Given the description of an element on the screen output the (x, y) to click on. 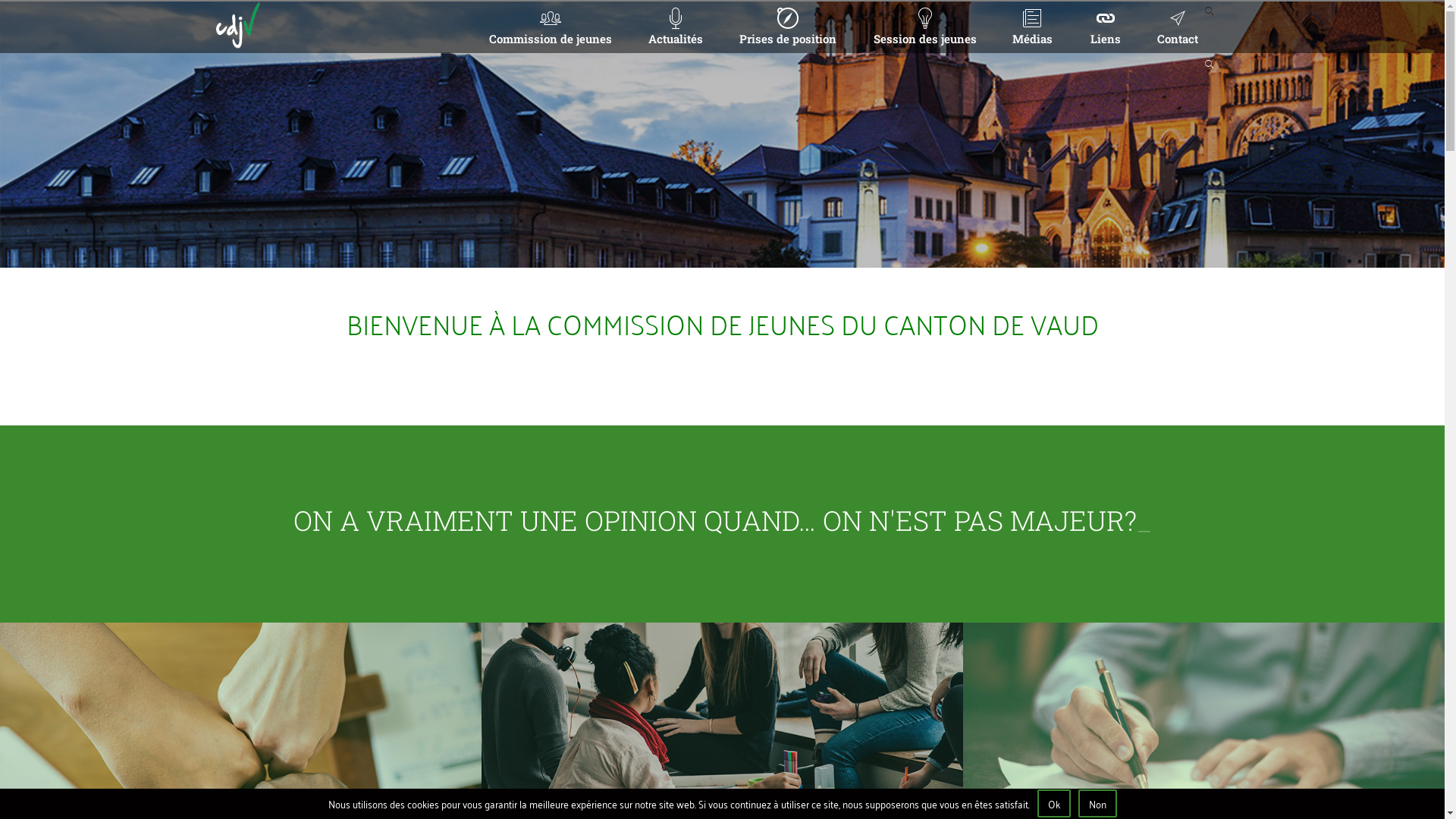
Contact Element type: text (1176, 26)
konsept Element type: text (1139, 768)
Non Element type: text (1097, 803)
Prises de position Element type: text (787, 26)
Ok Element type: text (1053, 803)
Session des jeunes Element type: text (924, 26)
Commission de jeunes Element type: text (550, 26)
Liens Element type: text (1104, 26)
